Given the description of an element on the screen output the (x, y) to click on. 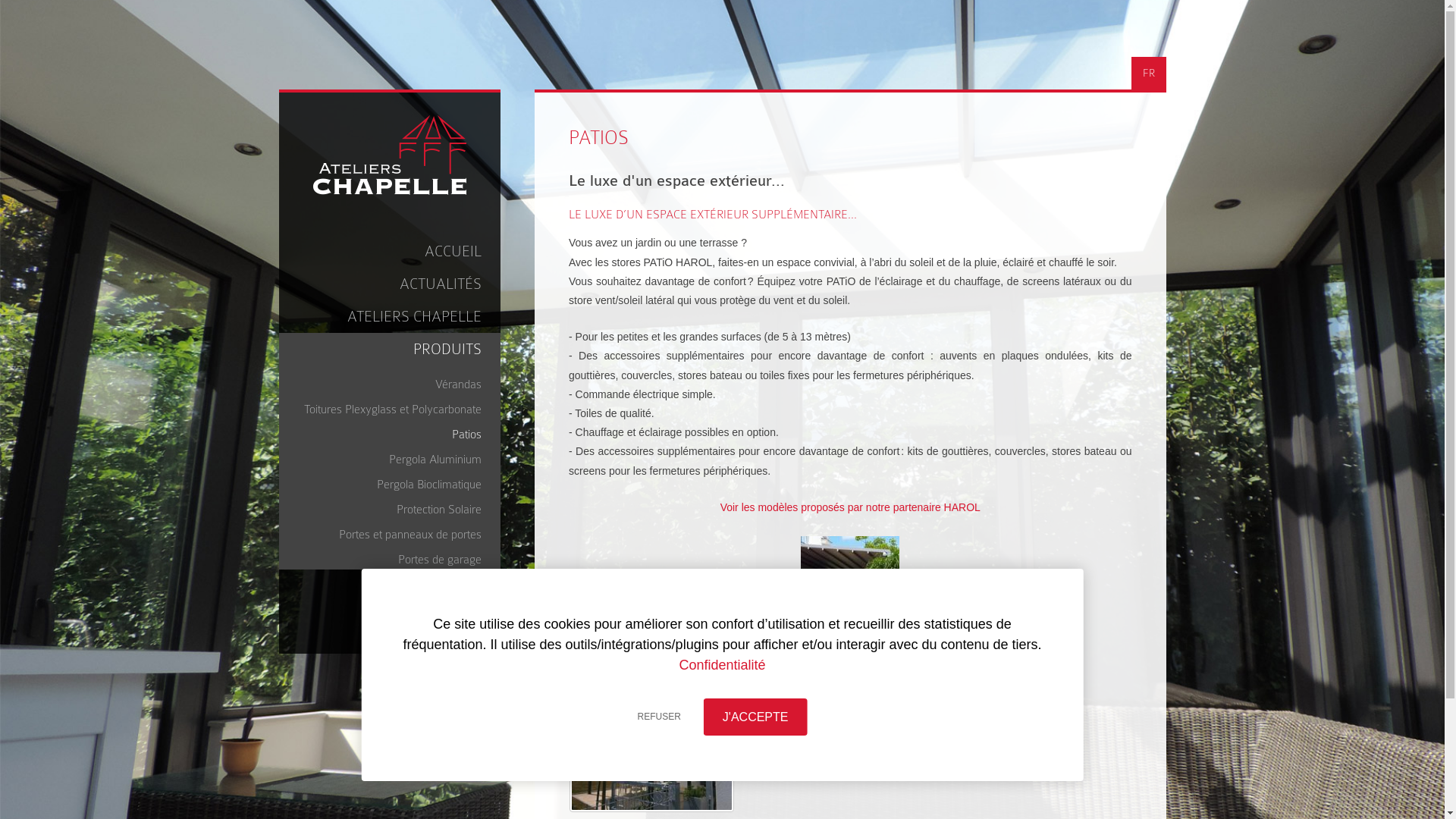
Portes et panneaux de portes Element type: text (393, 531)
Pergola Aluminium Element type: text (393, 456)
Pergola Bioclimatique Element type: text (393, 481)
REFUSER Element type: text (658, 716)
Protection Solaire Element type: text (393, 506)
FR Element type: text (1148, 72)
ACCUEIL Element type: text (390, 251)
Patios Element type: text (393, 431)
Visionnez la brochure " Les stores de terrasse " HAROL Element type: text (850, 659)
CONTACT Element type: text (390, 618)
patio - Patios - Produits Element type: hover (651, 749)
Toitures Plexyglass et Polycarbonate Element type: text (393, 406)
ATELIERS CHAPELLE Element type: text (390, 316)
Ateliers Chapelle Element type: hover (390, 155)
PRODUITS Element type: text (390, 348)
J'ACCEPTE Element type: text (755, 716)
Portes de garage Element type: text (393, 556)
